Given the description of an element on the screen output the (x, y) to click on. 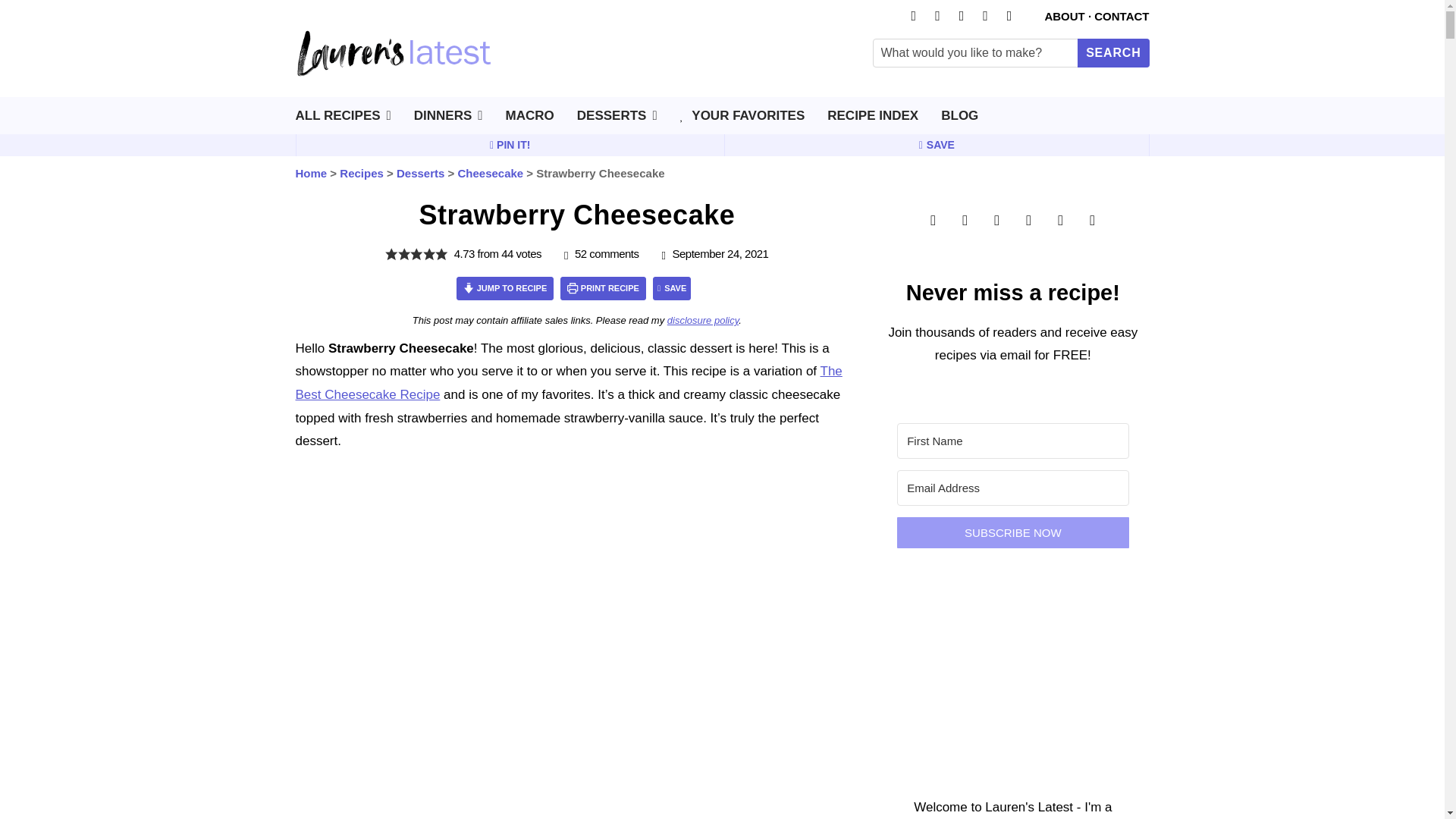
Search (1112, 52)
Search (1112, 52)
CONTACT (1121, 15)
Pin It! (509, 144)
ABOUT (1063, 15)
